Given the description of an element on the screen output the (x, y) to click on. 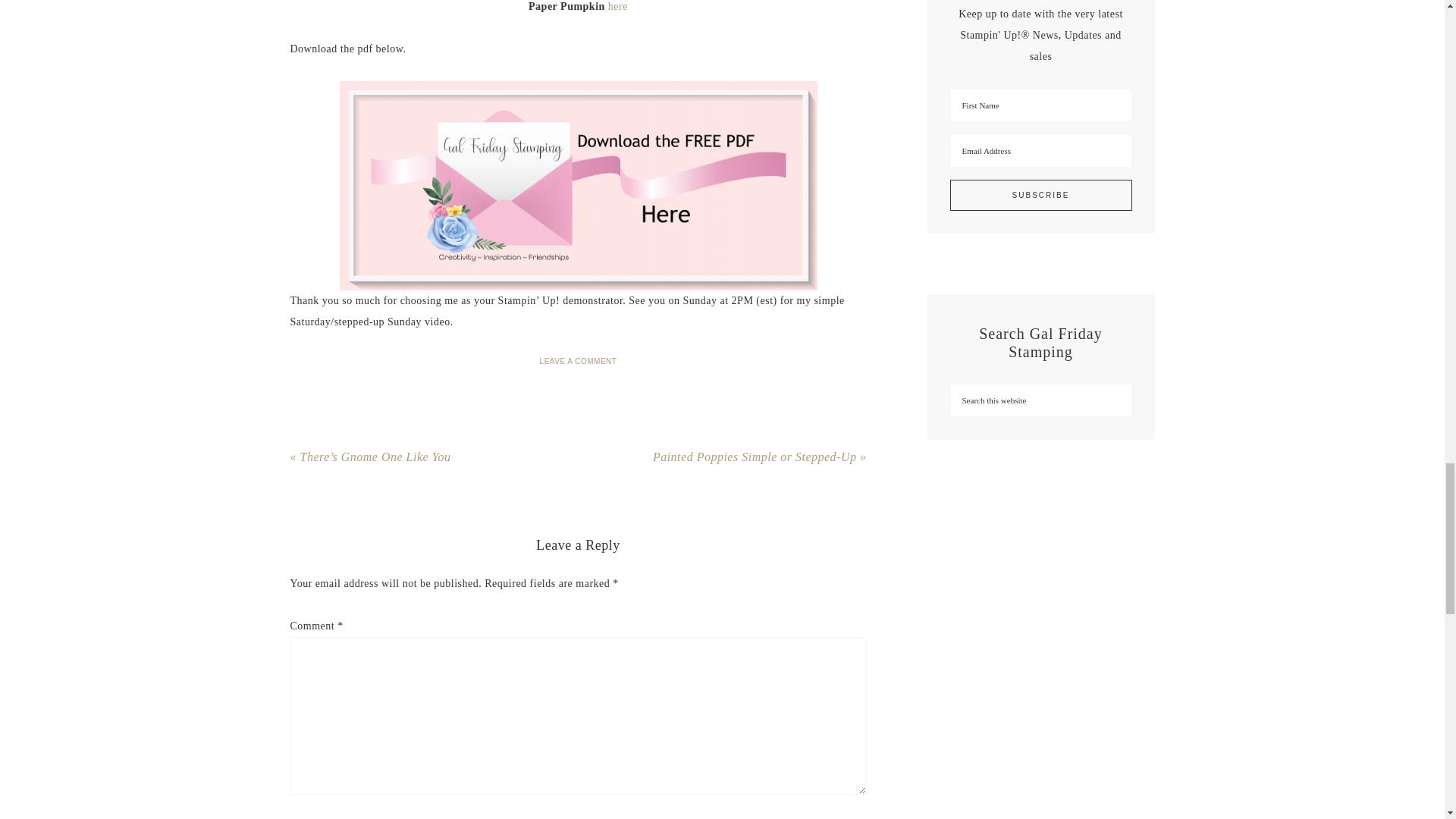
Subscribe (1040, 194)
here (617, 6)
LEAVE A COMMENT (578, 361)
